Given the description of an element on the screen output the (x, y) to click on. 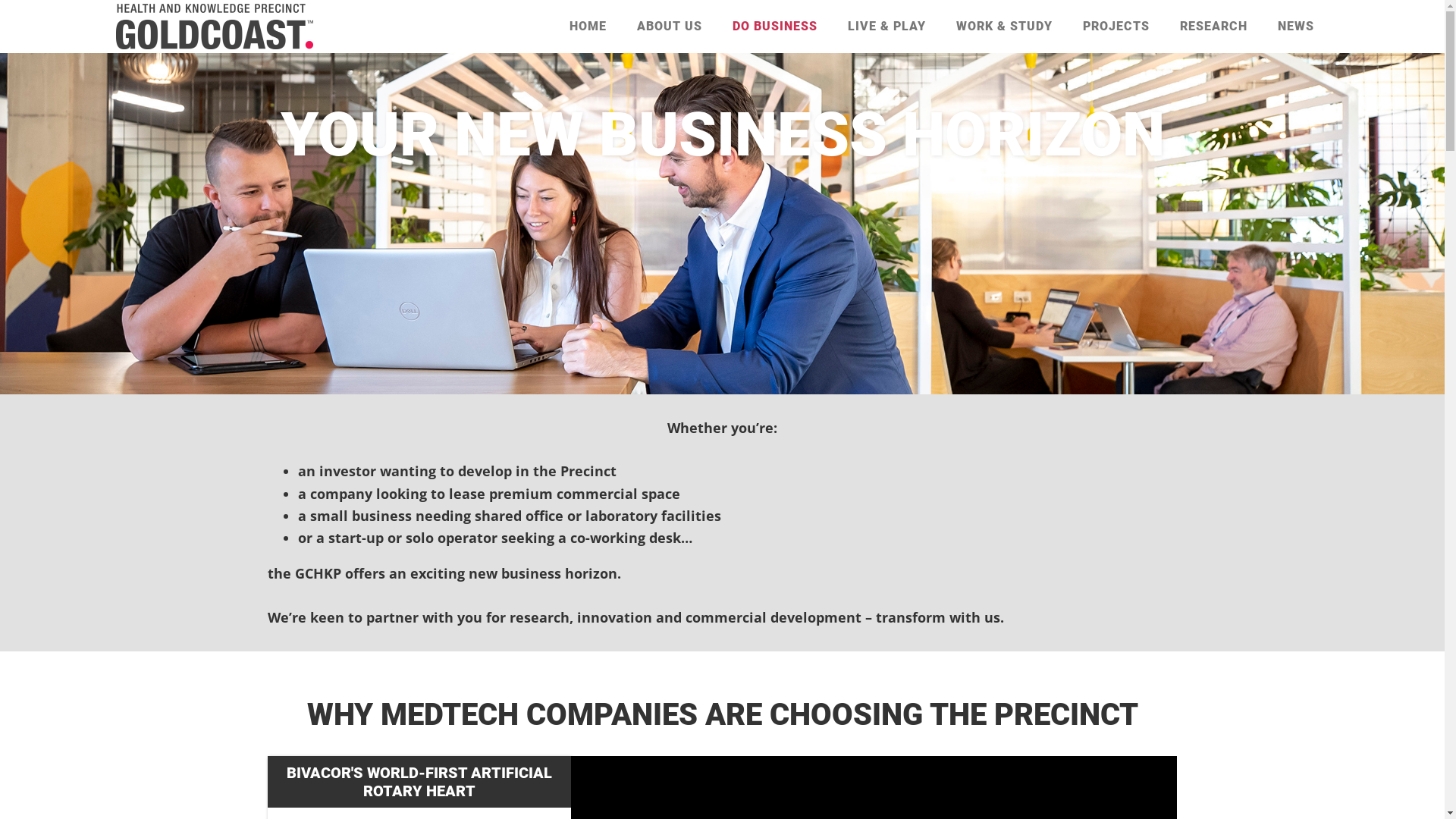
WORK & STUDY Element type: text (1003, 26)
HOME Element type: text (587, 26)
PROJECTS Element type: text (1115, 26)
RESEARCH Element type: text (1213, 26)
NEWS Element type: text (1294, 26)
ABOUT US Element type: text (669, 26)
LIVE & PLAY Element type: text (886, 26)
Gold Coast Health & Knowledge Precinct Element type: text (213, 26)
DO BUSINESS Element type: text (774, 26)
Skip to main content Element type: text (30, 53)
